Given the description of an element on the screen output the (x, y) to click on. 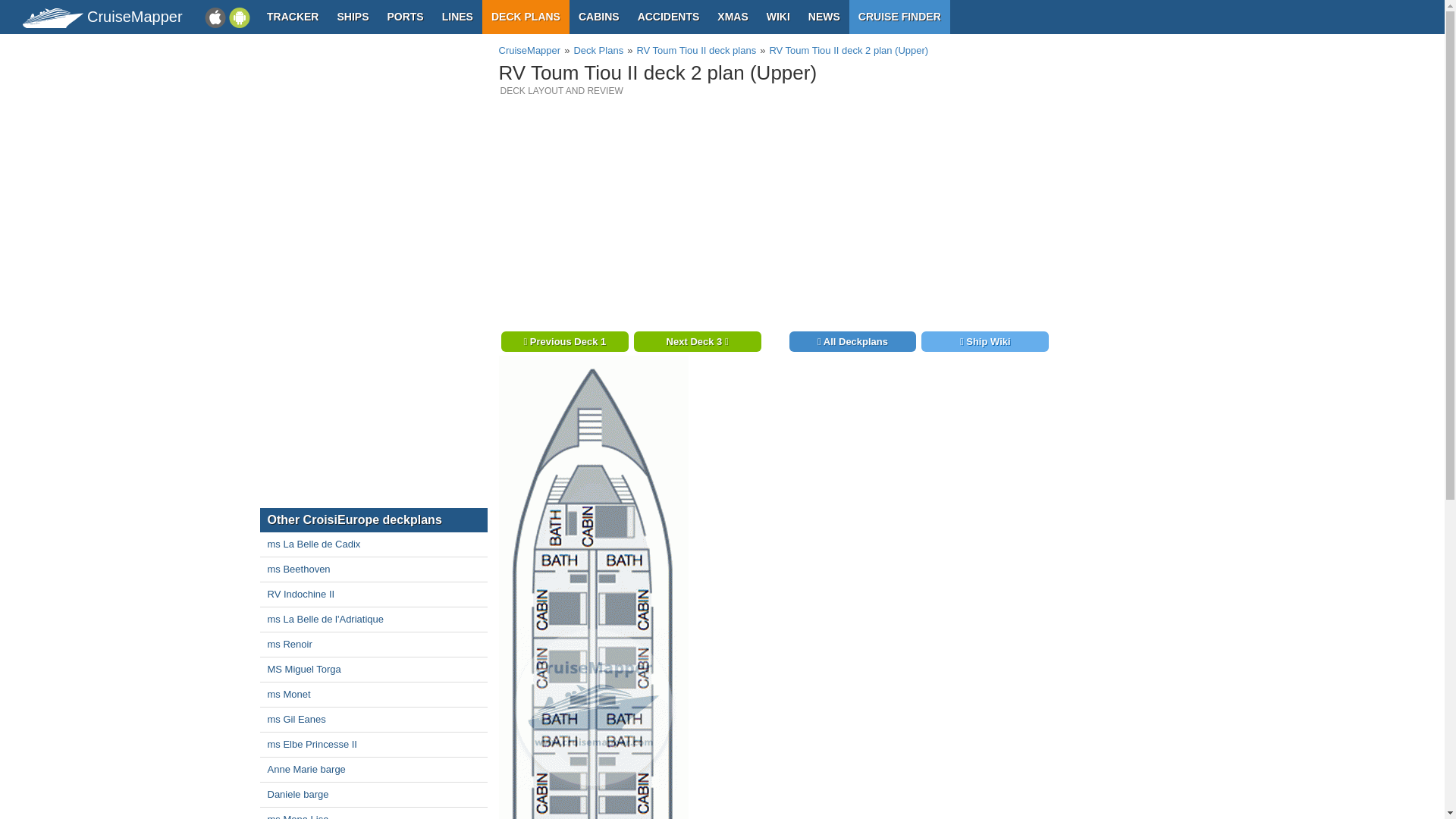
ACCIDENTS (668, 17)
Anne Marie barge (372, 769)
LINES (456, 17)
CruiseMapper (529, 50)
ms Renoir (372, 644)
SHIPS (352, 17)
ms Monet (372, 694)
CruiseMapper (114, 17)
Previous Deck 1 (564, 341)
All Deckplans (853, 341)
